Given the description of an element on the screen output the (x, y) to click on. 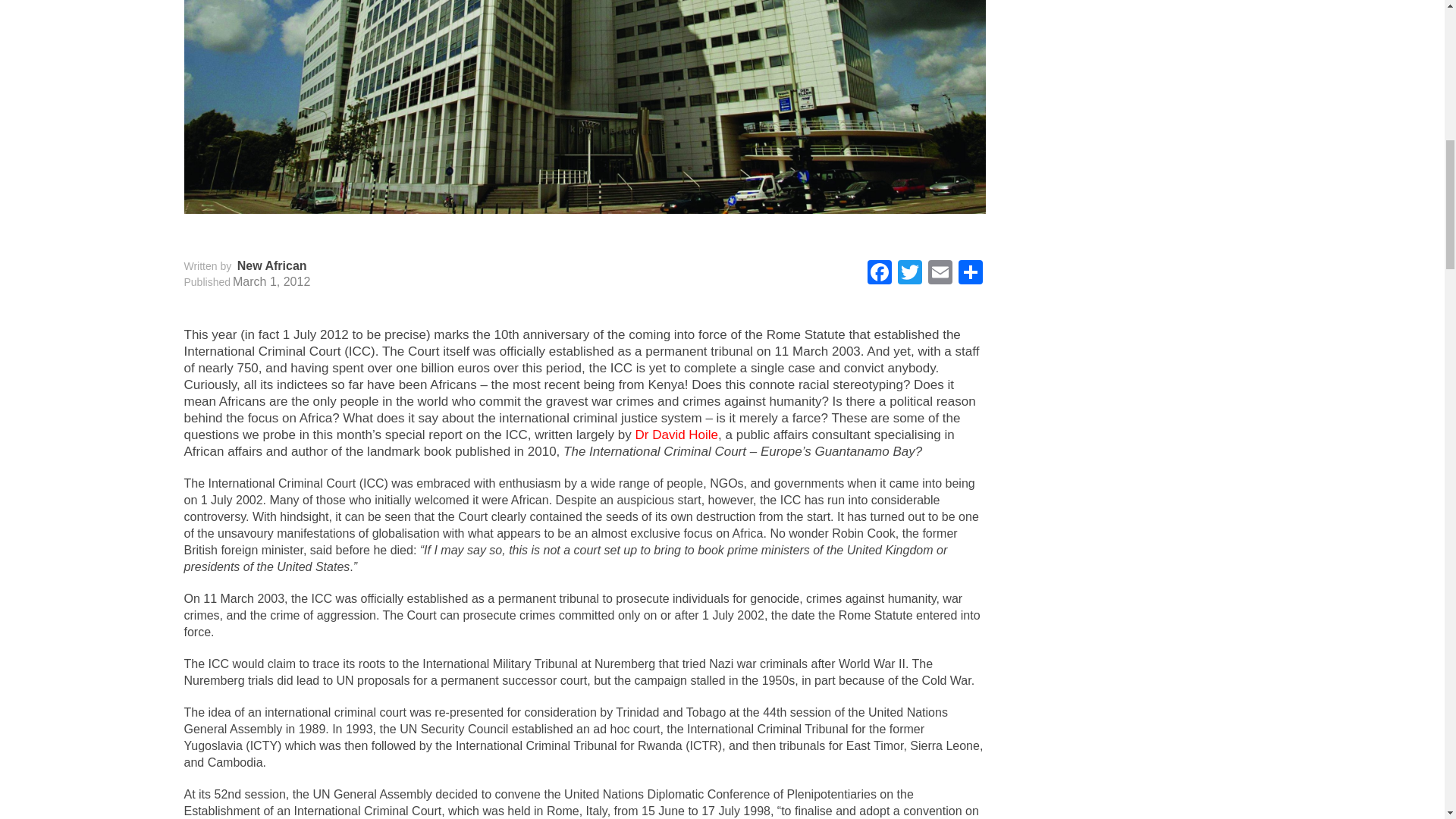
Share (970, 274)
Email (939, 274)
Email (939, 274)
Facebook (879, 274)
Facebook (879, 274)
Twitter (909, 274)
Twitter (909, 274)
